Given the description of an element on the screen output the (x, y) to click on. 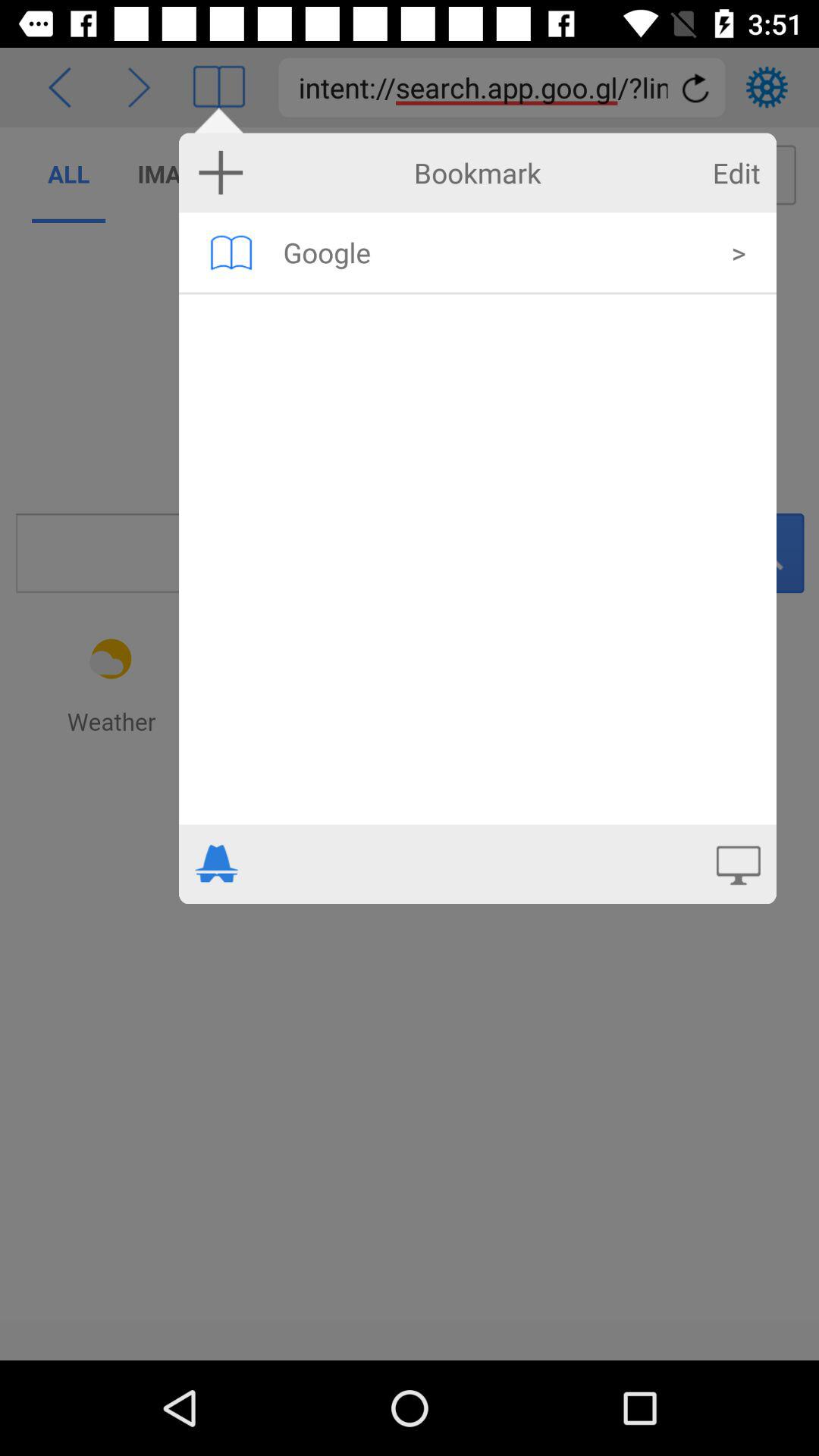
open on desktop (738, 864)
